Given the description of an element on the screen output the (x, y) to click on. 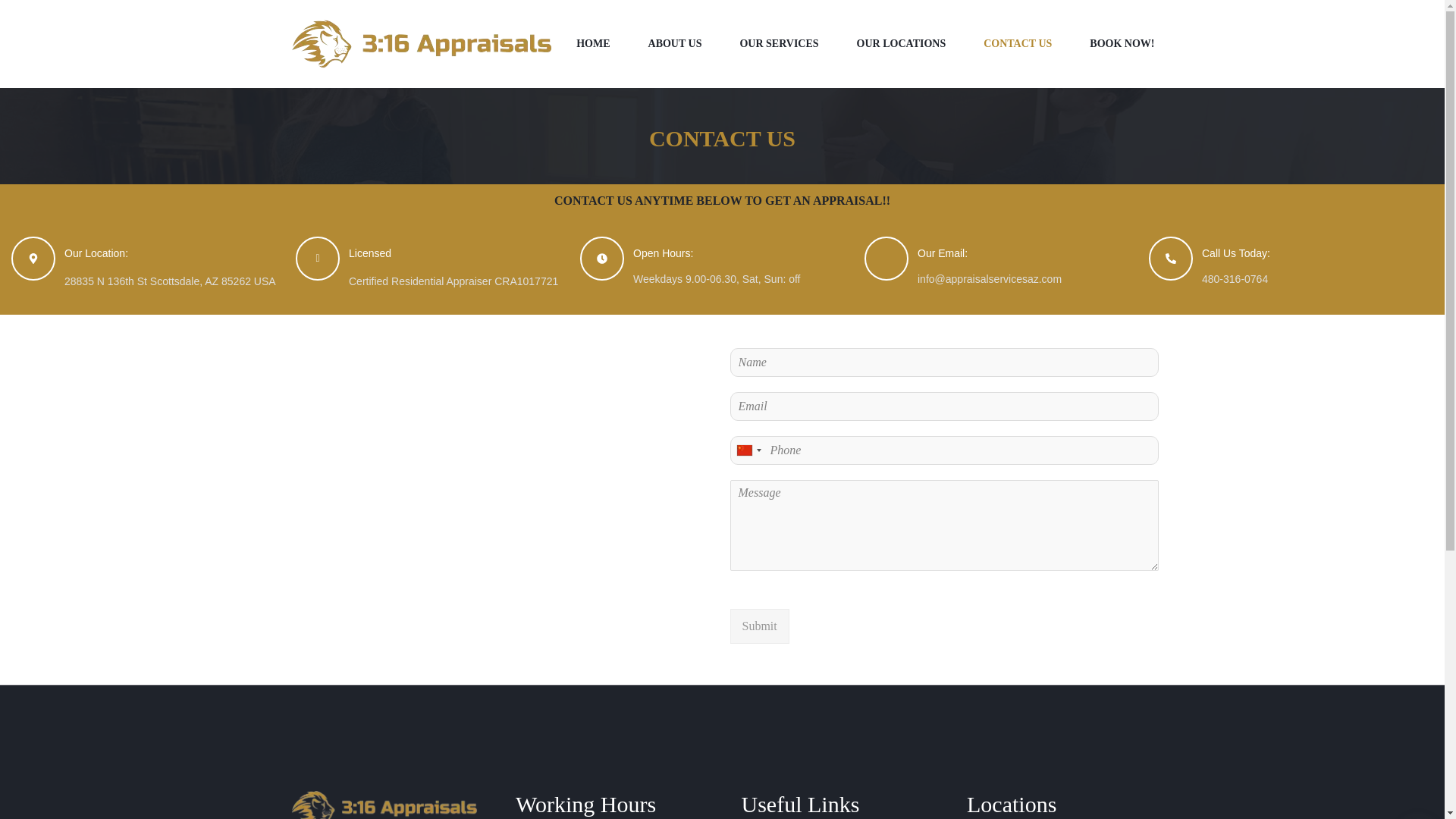
Submit (759, 626)
OUR LOCATIONS (901, 43)
OUR SERVICES (778, 43)
28835 N 136th St Scottsdale, AZ 85262 USA (500, 507)
APPRAISAL (847, 200)
